Given the description of an element on the screen output the (x, y) to click on. 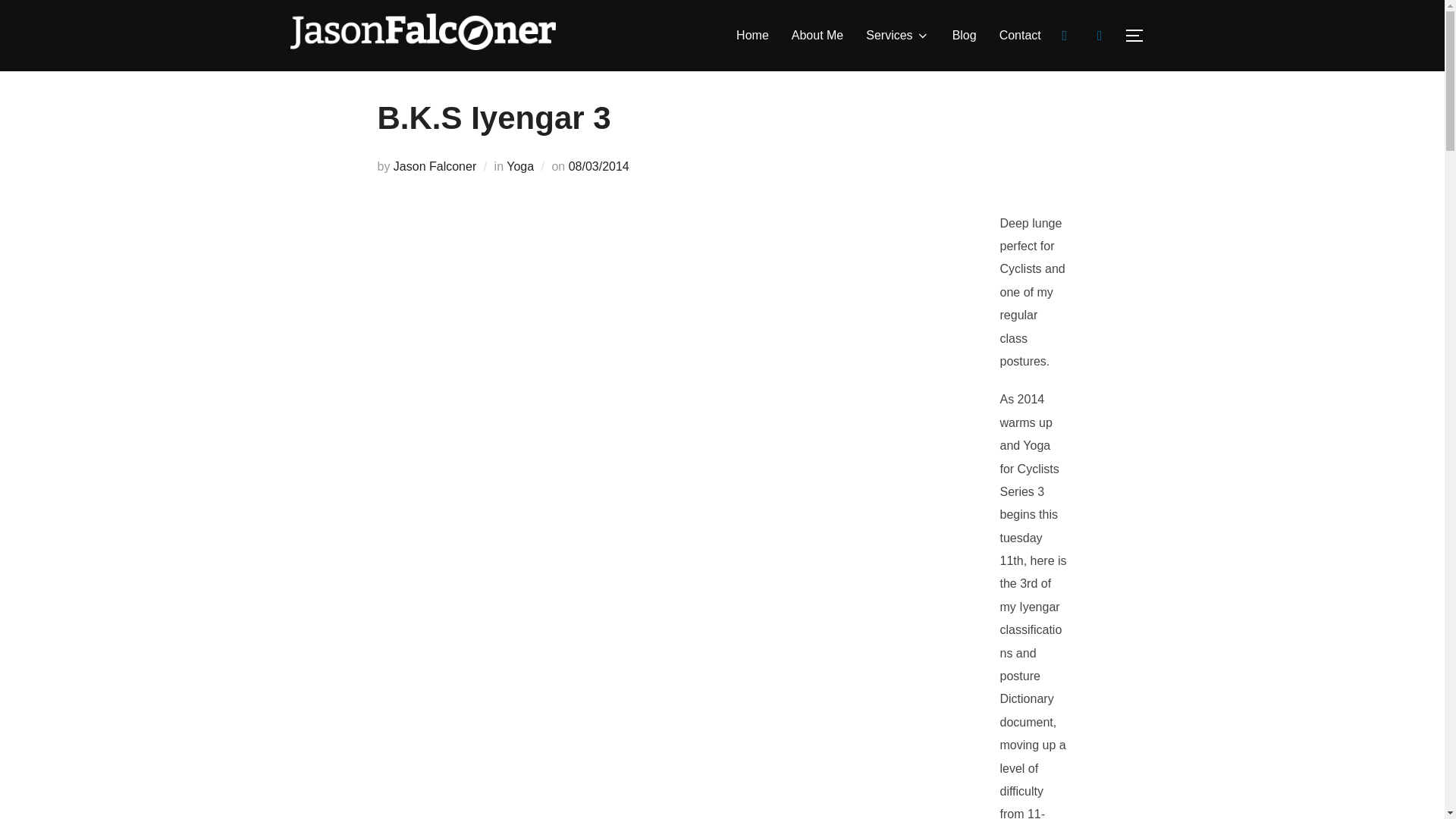
Jason Falconer (434, 165)
Services (897, 35)
Home (752, 35)
Contact (1019, 35)
WSX Twitter (1064, 33)
About Me (817, 35)
Yoga (520, 165)
